Given the description of an element on the screen output the (x, y) to click on. 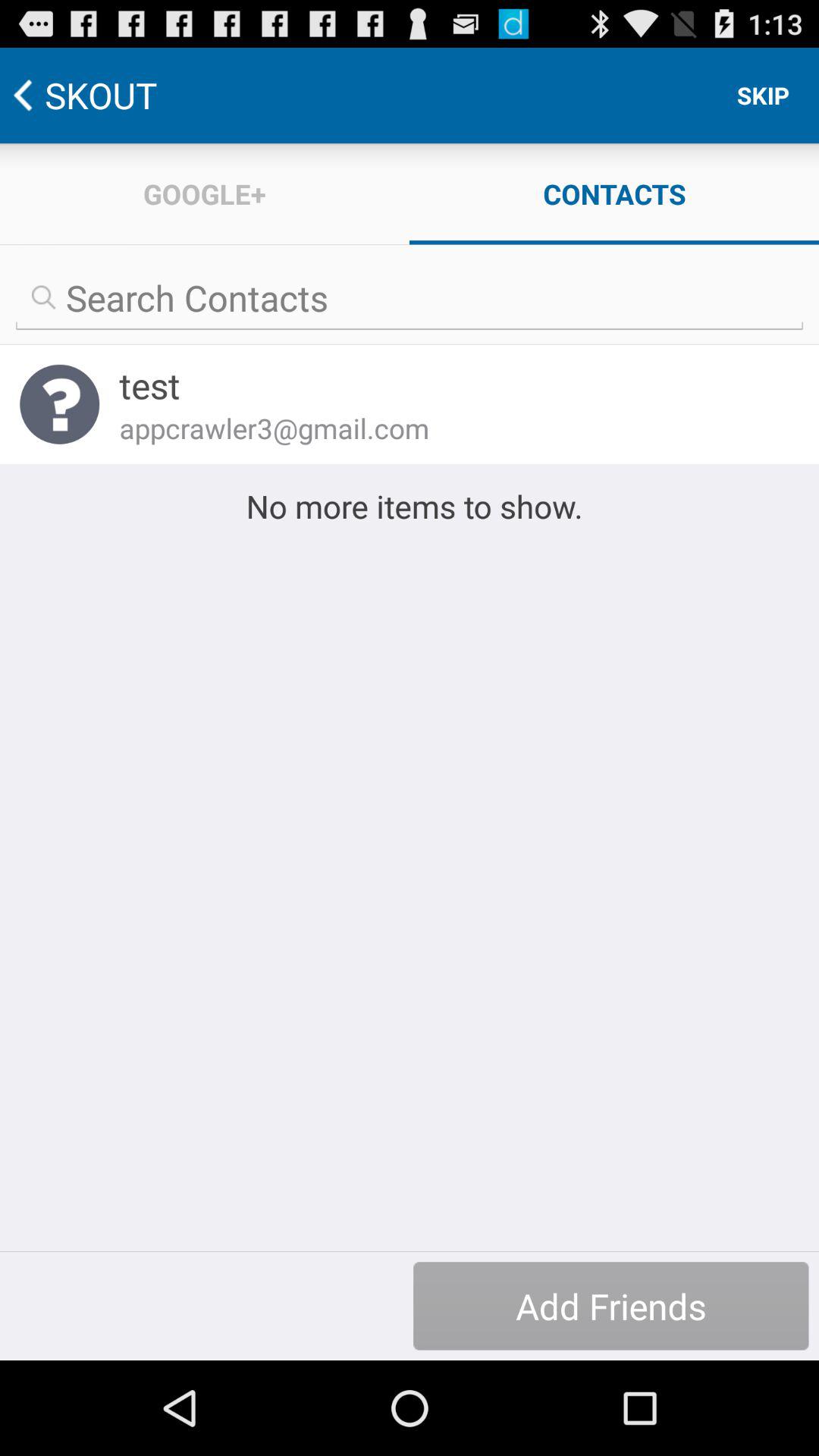
open skip icon (763, 95)
